Given the description of an element on the screen output the (x, y) to click on. 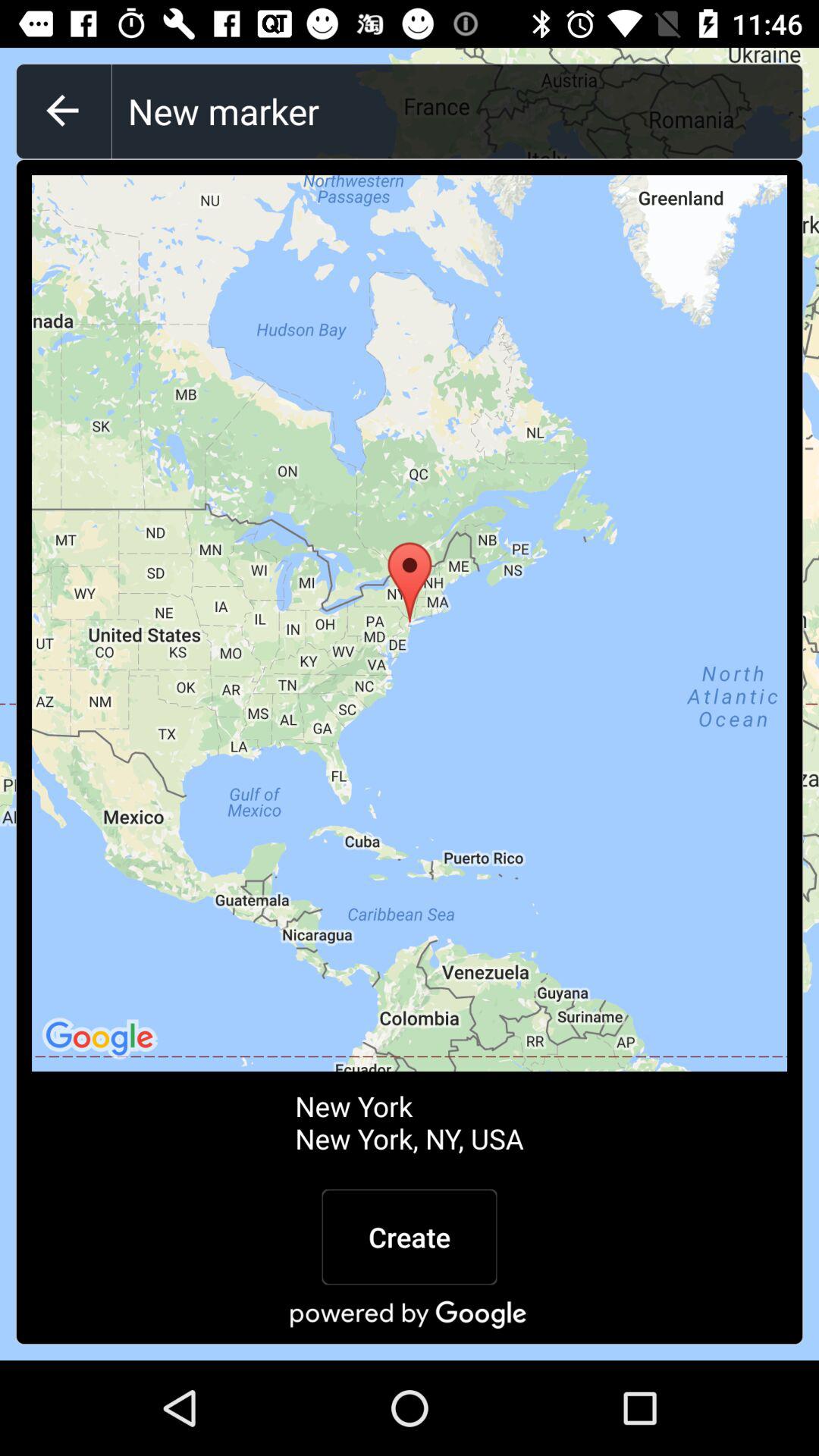
select powered by google (409, 1314)
